Given the description of an element on the screen output the (x, y) to click on. 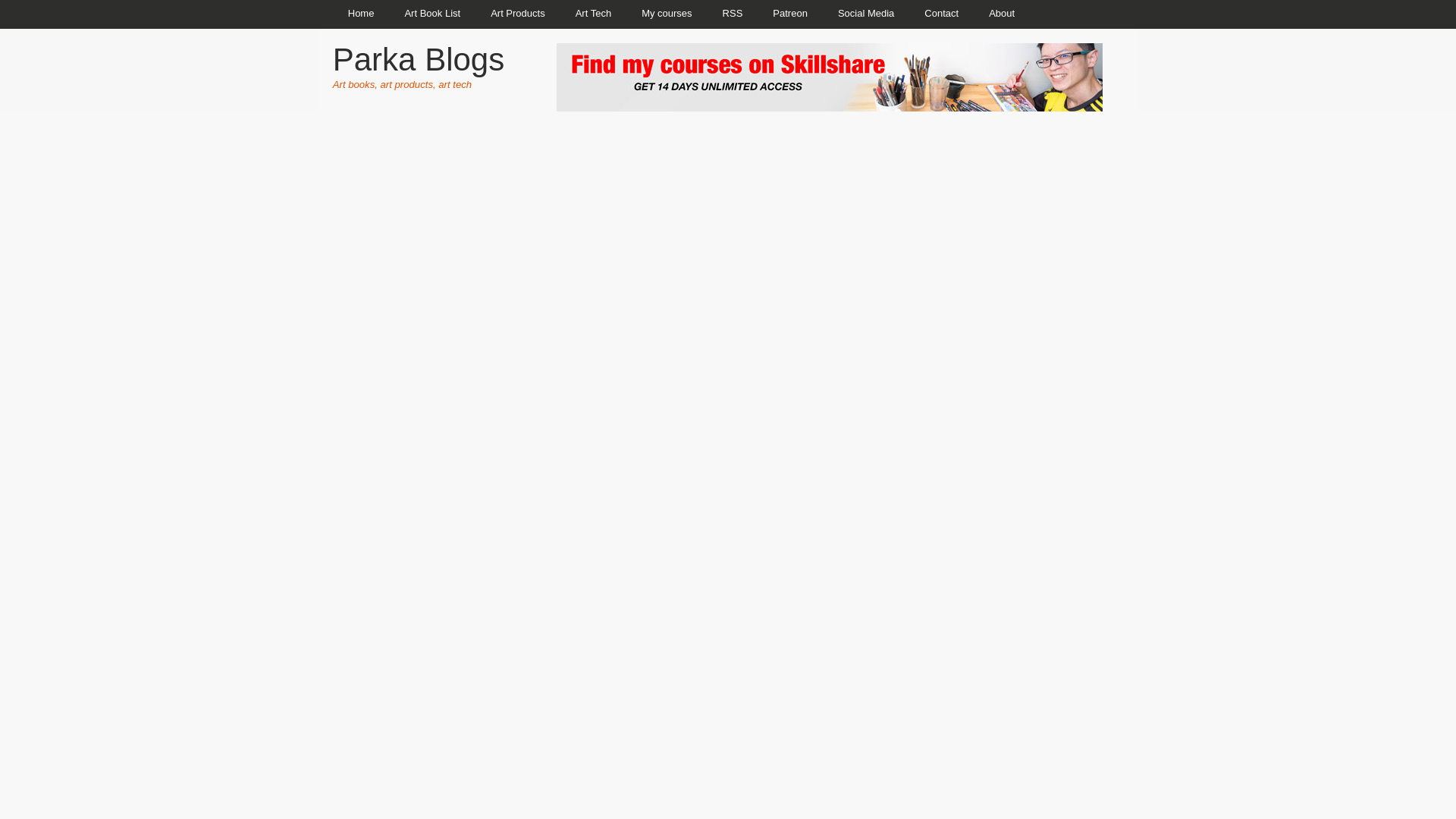
Contact (941, 14)
Art books from the west (432, 14)
Art Products (518, 14)
RSS (732, 14)
Patreon (789, 14)
My courses (666, 14)
Art Tech (593, 14)
Drawing courses (666, 14)
Social Media (865, 14)
About (1001, 14)
RSS (732, 14)
Home (361, 14)
Parka Blogs (418, 58)
Art products and materials review (518, 14)
Art Book List (432, 14)
